Given the description of an element on the screen output the (x, y) to click on. 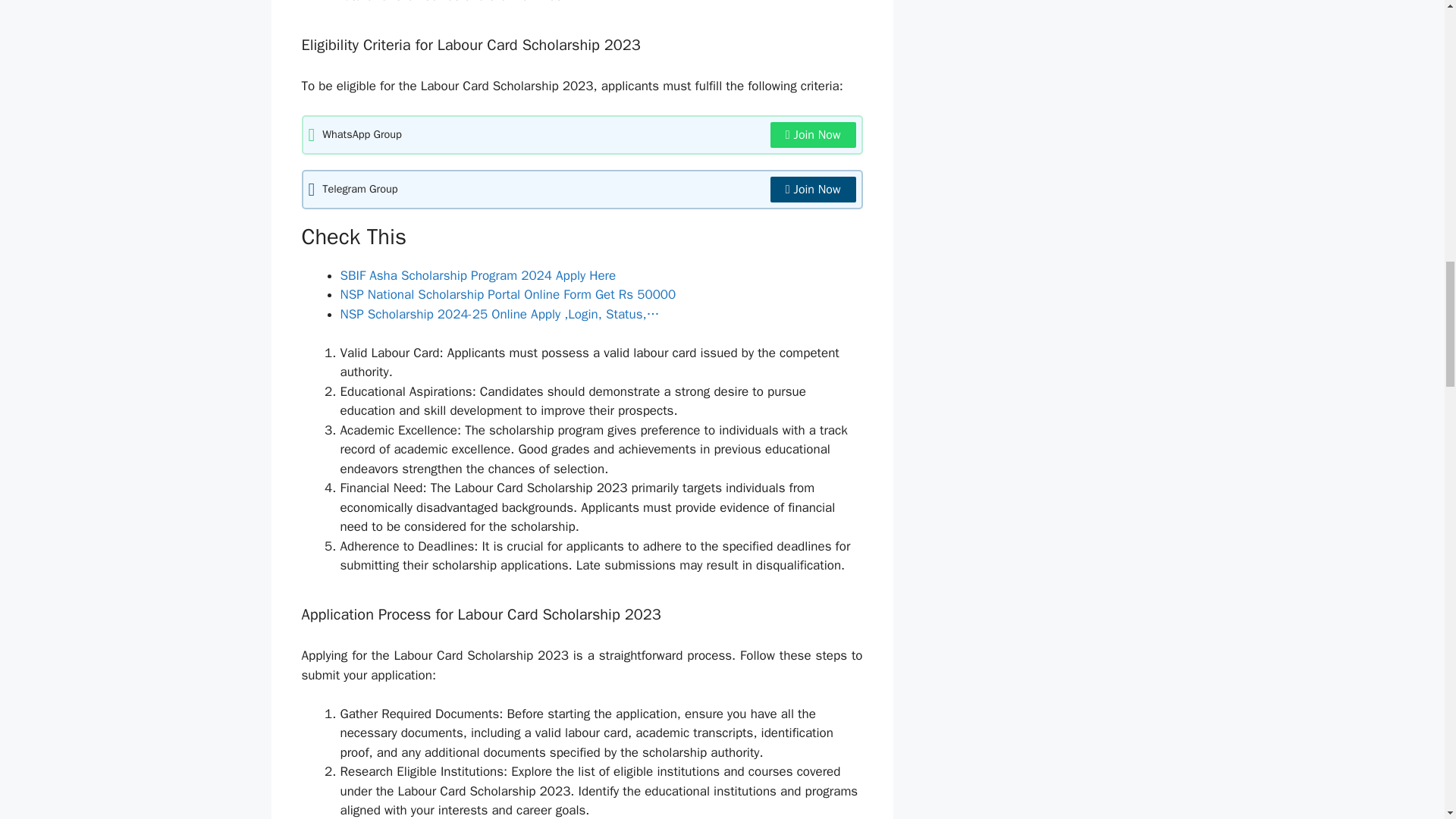
Join Now (813, 135)
Join Now (813, 189)
SBIF Asha Scholarship Program 2024 Apply Here (477, 275)
NSP National Scholarship Portal Online Form Get Rs 50000 (507, 294)
